Given the description of an element on the screen output the (x, y) to click on. 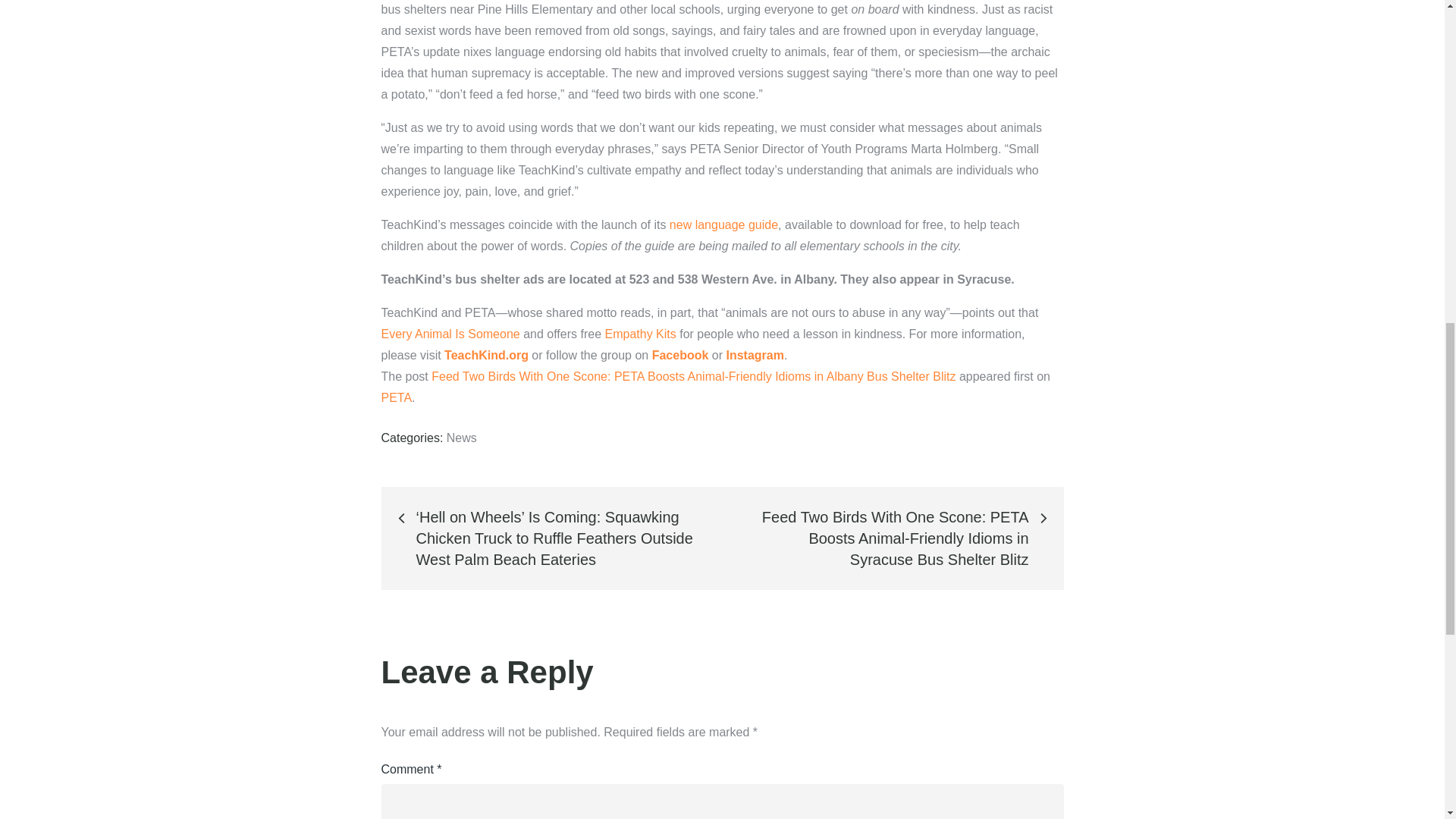
News (461, 437)
Empathy Kits (639, 333)
PETA (396, 397)
new language guide (723, 224)
TeachKind.org (486, 354)
Instagram (755, 354)
Facebook (680, 354)
Every Animal Is Someone (449, 333)
